Given the description of an element on the screen output the (x, y) to click on. 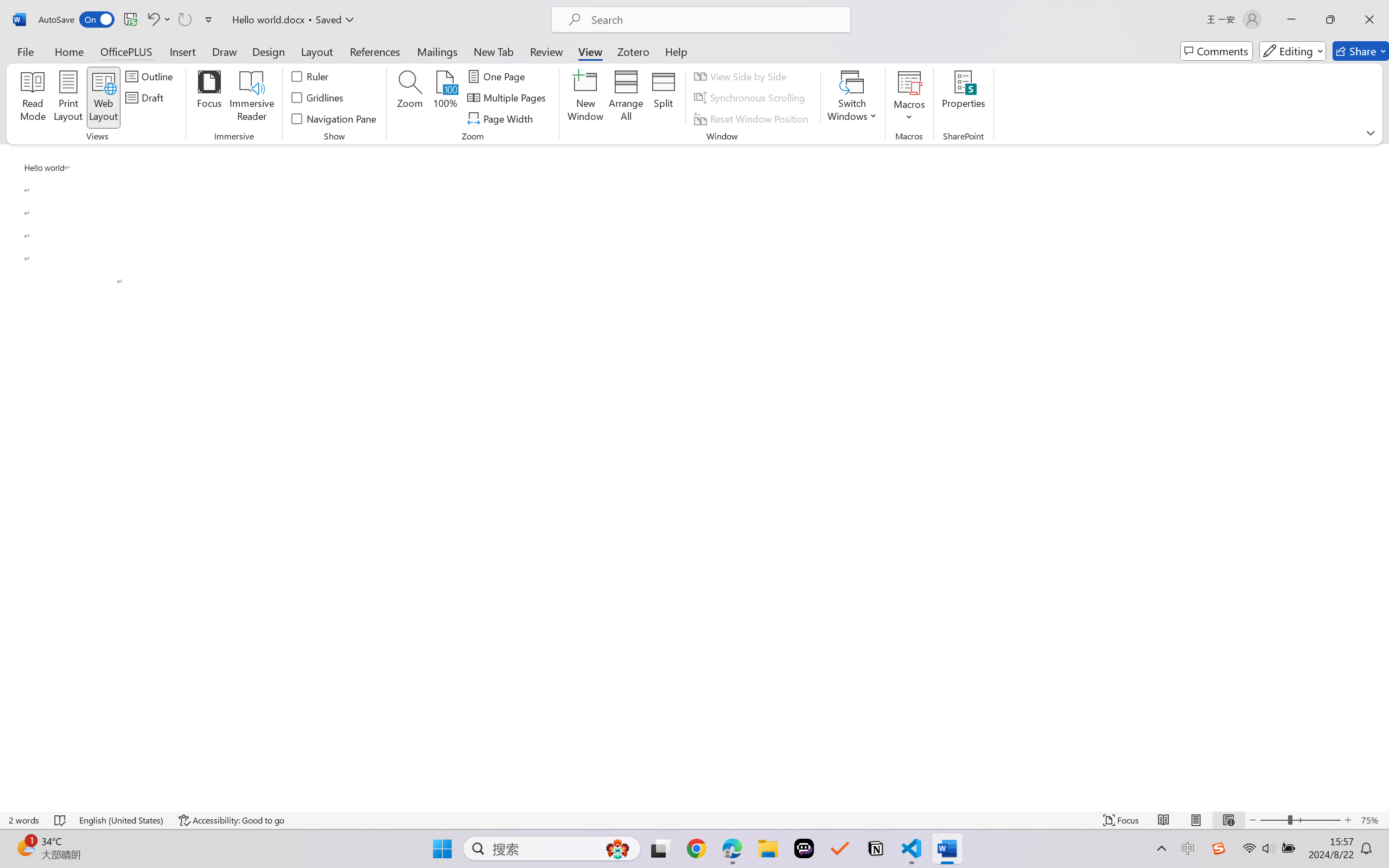
AutomationID: BadgeAnchorLargeTicker (24, 847)
Class: Image (1218, 847)
Insert (182, 51)
Minimize (1291, 19)
Print Layout (1196, 819)
File Tab (24, 51)
Zoom In (1348, 819)
Reset Window Position (752, 118)
Zoom... (409, 97)
Macros (909, 97)
Close (1369, 19)
Zoom 75% (1372, 819)
Focus (209, 97)
